Given the description of an element on the screen output the (x, y) to click on. 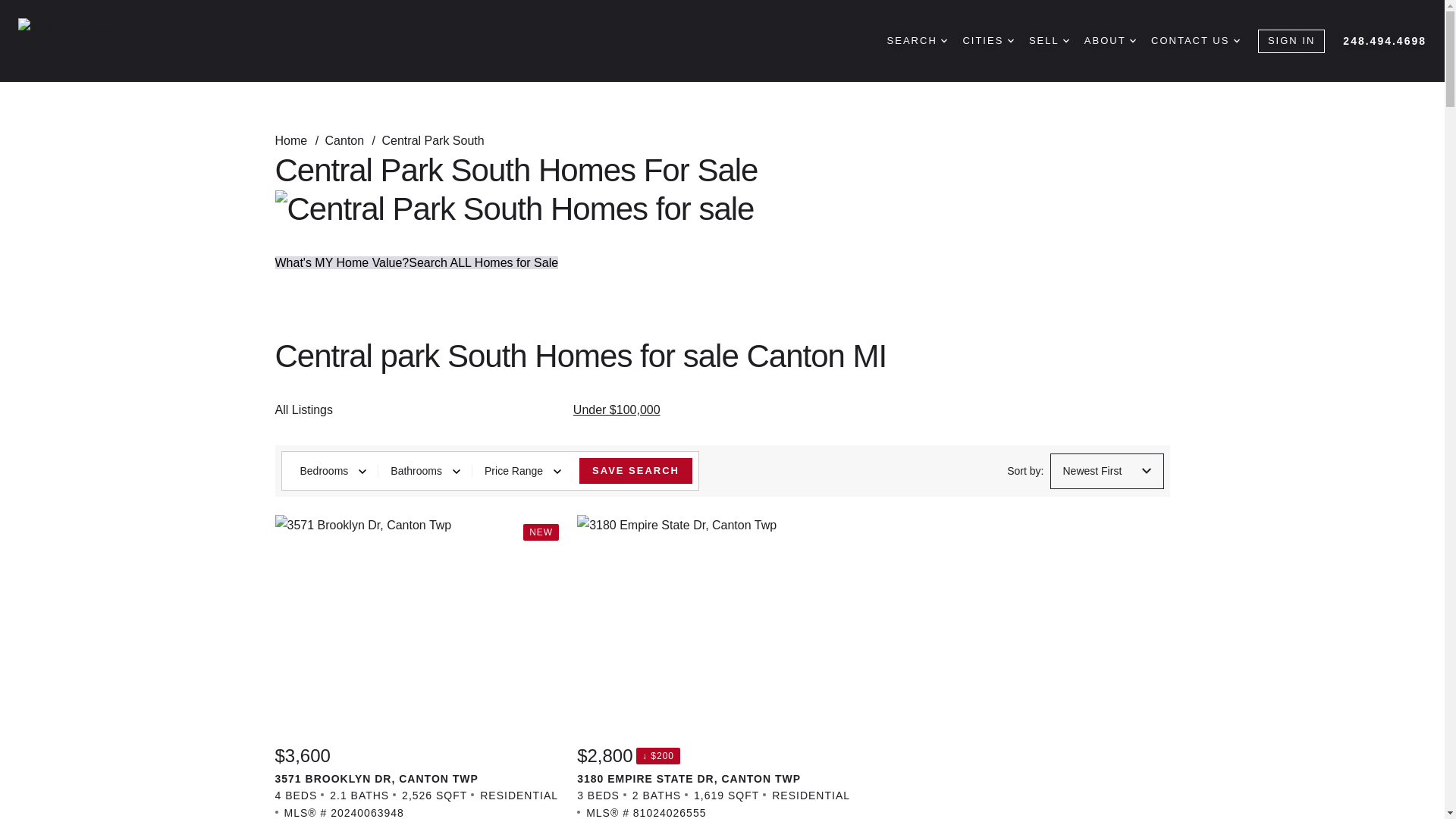
DROPDOWN ARROW (943, 40)
SELL DROPDOWN ARROW (1048, 41)
SEARCH DROPDOWN ARROW (916, 41)
CITIES DROPDOWN ARROW (987, 41)
DROPDOWN ARROW (1065, 40)
DROPDOWN ARROW (1010, 40)
DROPDOWN ARROW (1132, 40)
DROPDOWN ARROW (1236, 40)
